Given the description of an element on the screen output the (x, y) to click on. 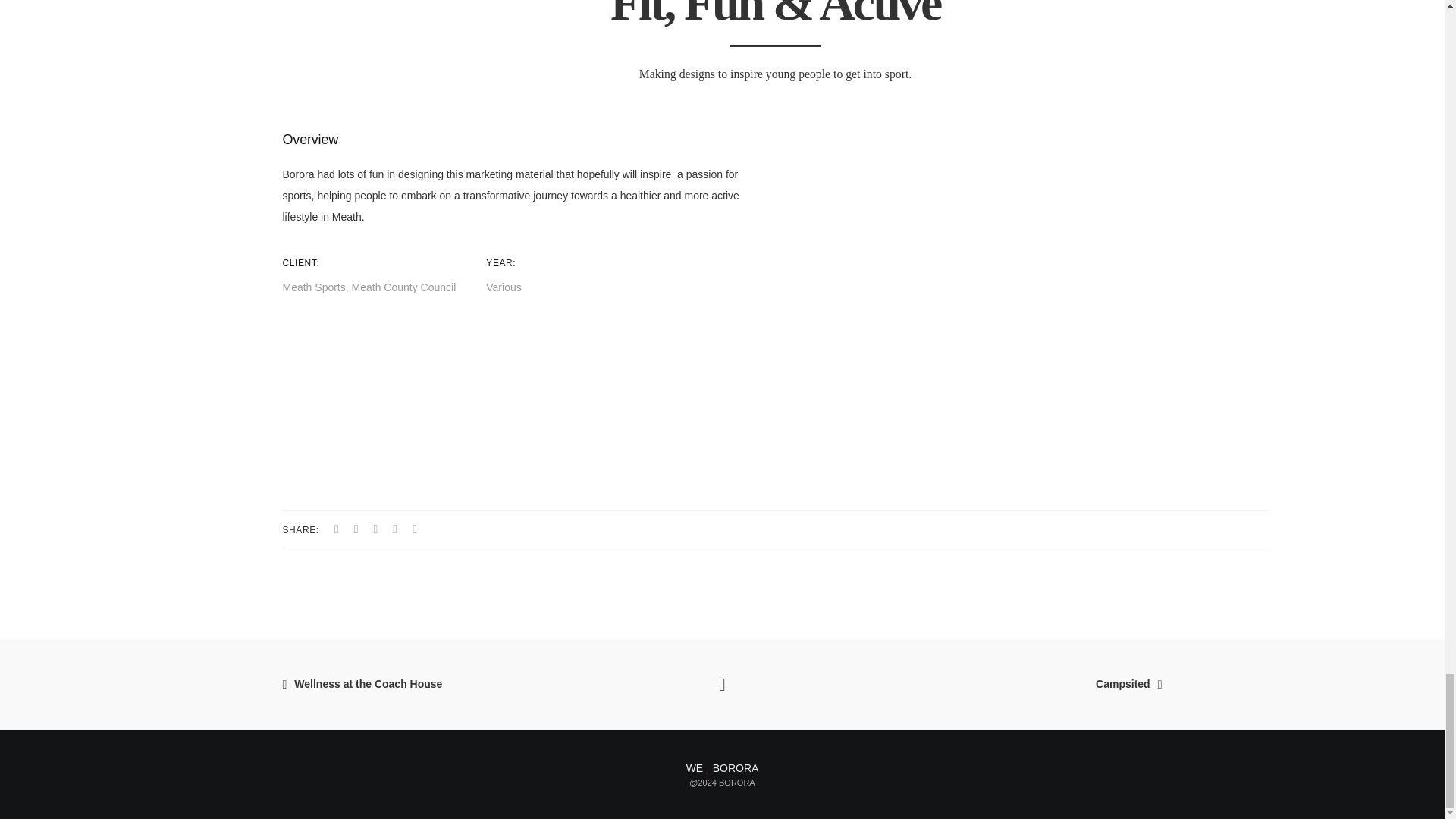
Wellness at the Coach House (423, 684)
Campsited (1020, 684)
